Given the description of an element on the screen output the (x, y) to click on. 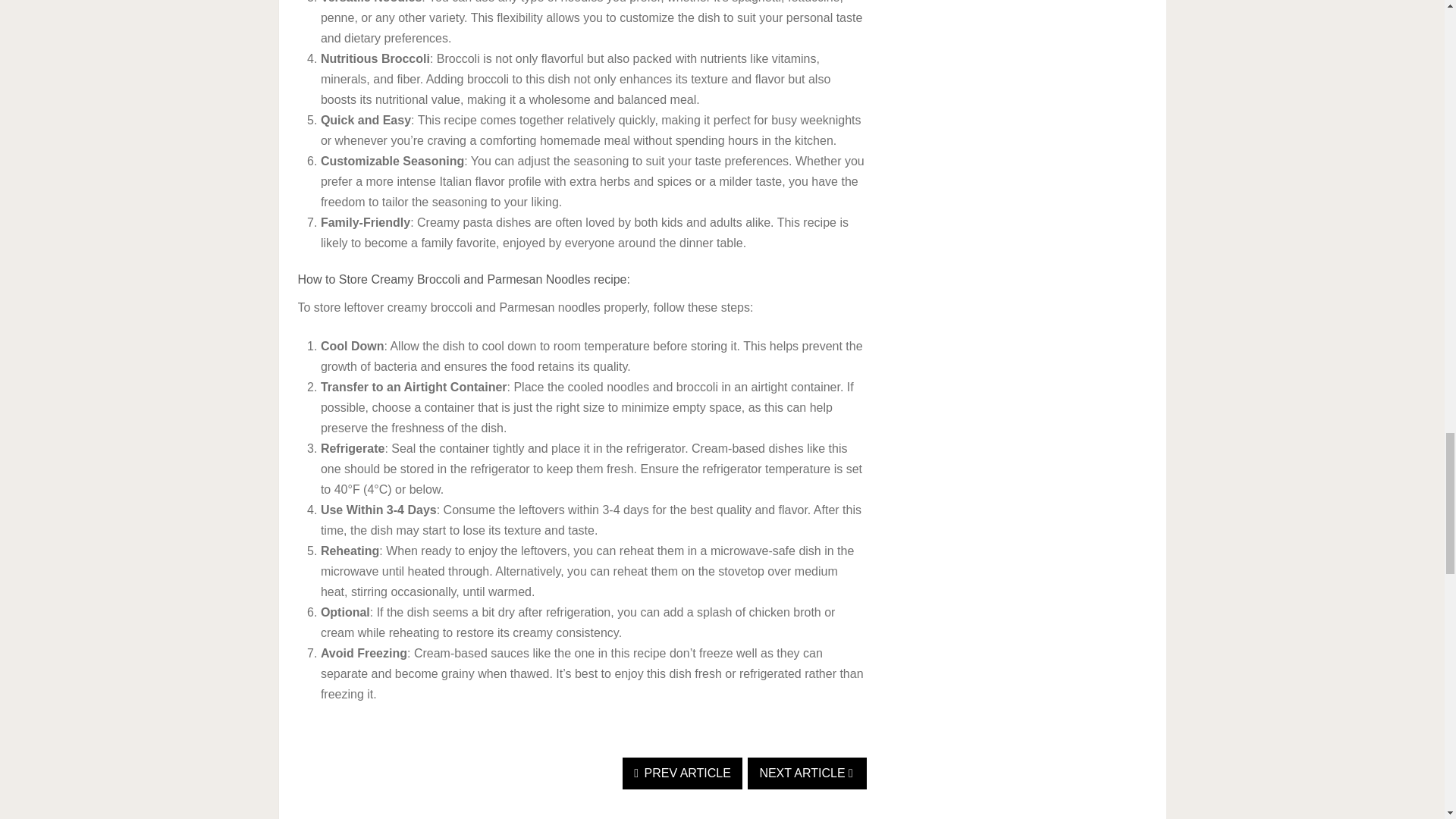
NEXT ARTICLE (807, 773)
PREV ARTICLE (682, 773)
